Given the description of an element on the screen output the (x, y) to click on. 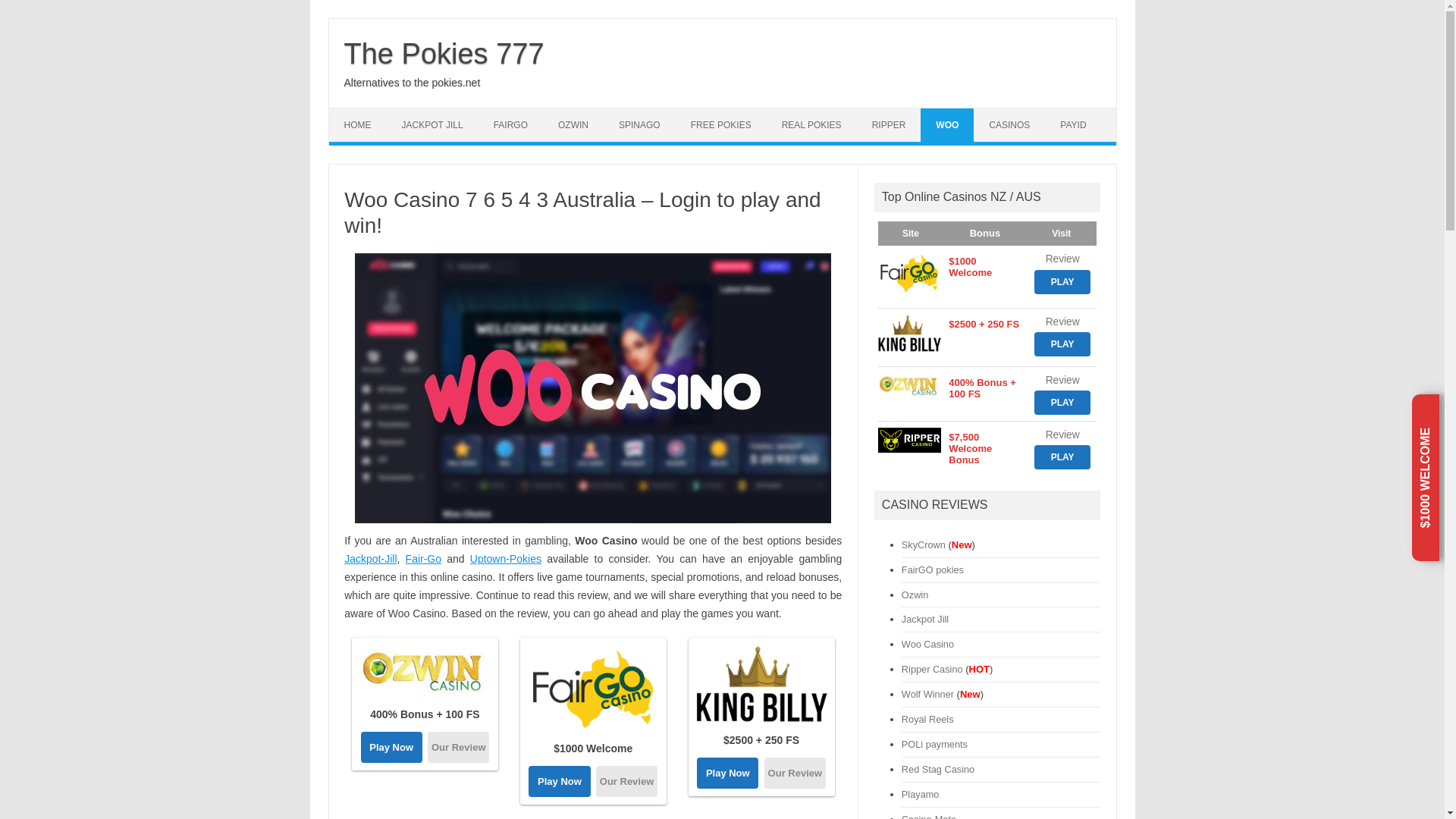
The Pokies 777 (443, 53)
SPINAGO (639, 124)
HOME (358, 124)
RIPPER (889, 124)
Alternatives to the pokies.net (411, 82)
Fair Go (626, 780)
Fair Go (593, 688)
Fair-Go (423, 558)
King Billy (761, 684)
OZWIN (573, 124)
PAYID (1072, 124)
WOO (947, 124)
The Pokies 777 (443, 53)
Jackpot-Jill (369, 558)
